Given the description of an element on the screen output the (x, y) to click on. 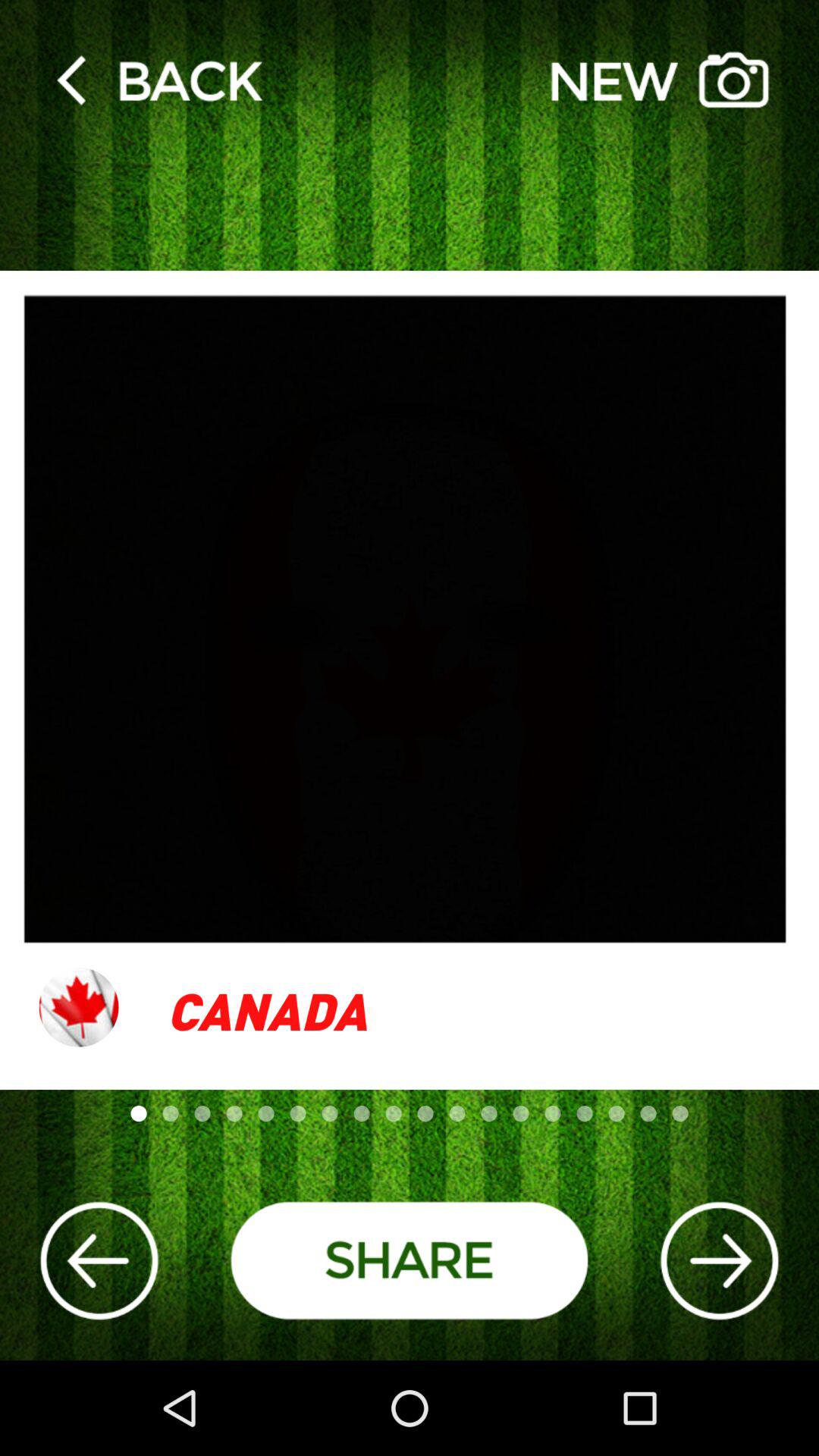
share the image (409, 1260)
